Given the description of an element on the screen output the (x, y) to click on. 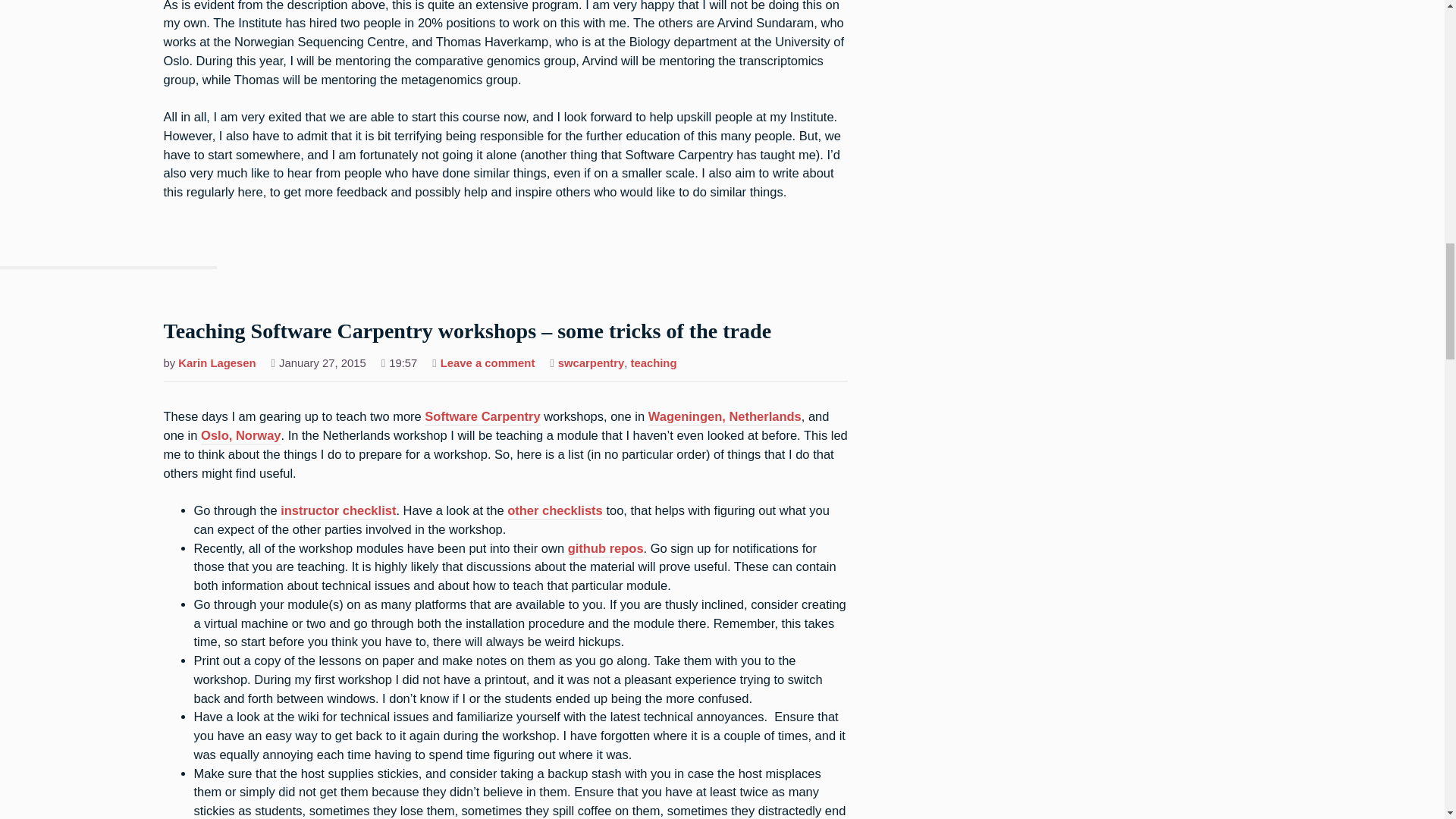
teaching (653, 364)
Karin Lagesen (216, 364)
instructor checklist (338, 511)
other checklists (554, 511)
Oslo, Norway (240, 436)
github repos (605, 549)
Posts by Karin Lagesen (216, 364)
Software Carpentry (482, 417)
swcarpentry (590, 364)
Wageningen, Netherlands (724, 417)
